Given the description of an element on the screen output the (x, y) to click on. 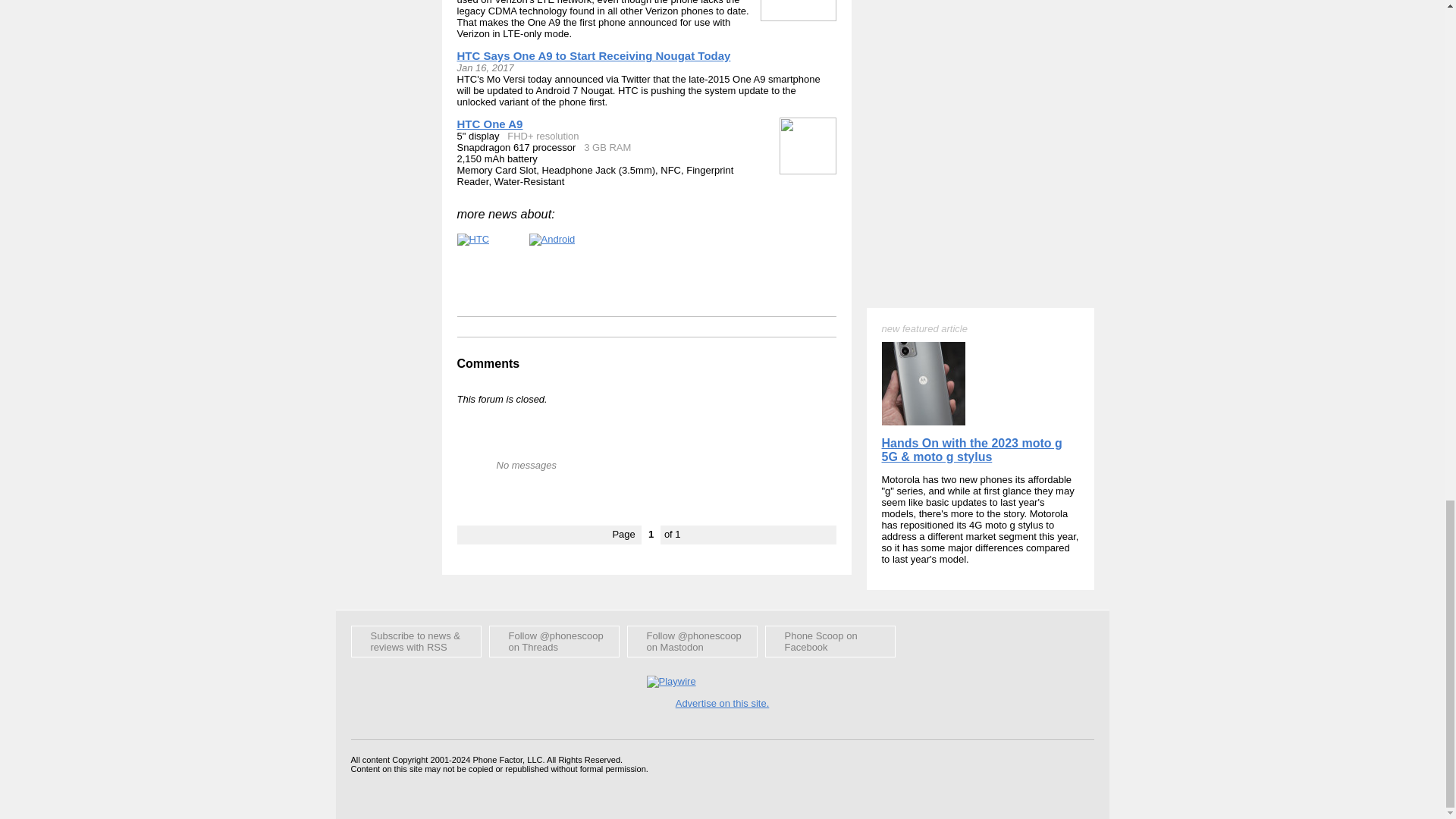
Phone Scoop - Latest News (415, 641)
Comments (488, 363)
Android (552, 239)
HTC (473, 239)
